Given the description of an element on the screen output the (x, y) to click on. 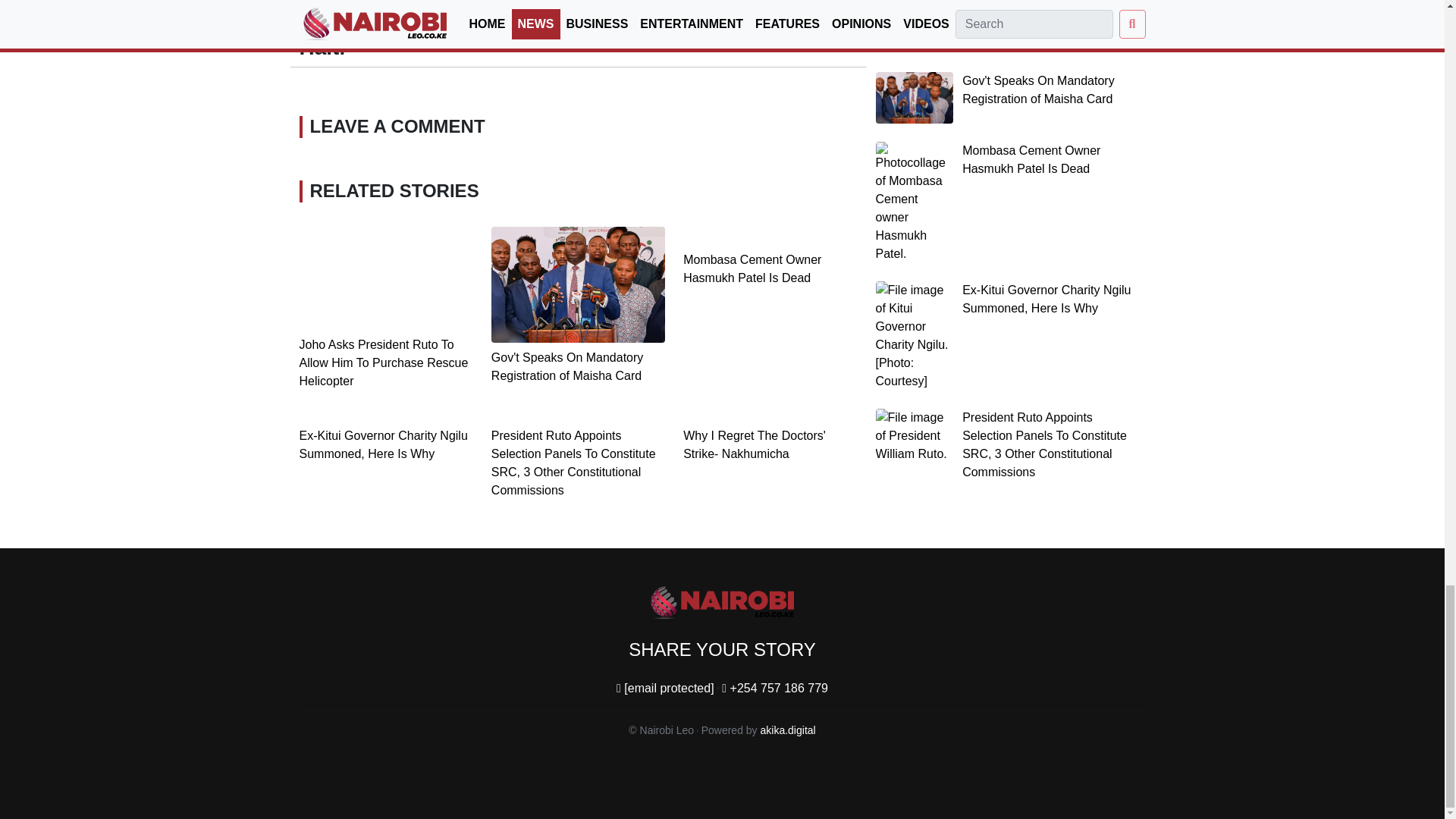
President Ruto Addresses High Cost Of Living in Kenya (724, 17)
Why I Regret The Doctors' Strike- Nakhumicha (753, 444)
President Ruto Addresses High Cost Of Living in Kenya (724, 17)
Mombasa Cement Owner Hasmukh Patel Is Dead (751, 268)
Ex-Kitui Governor Charity Ngilu Summoned, Here Is Why (382, 444)
